Given the description of an element on the screen output the (x, y) to click on. 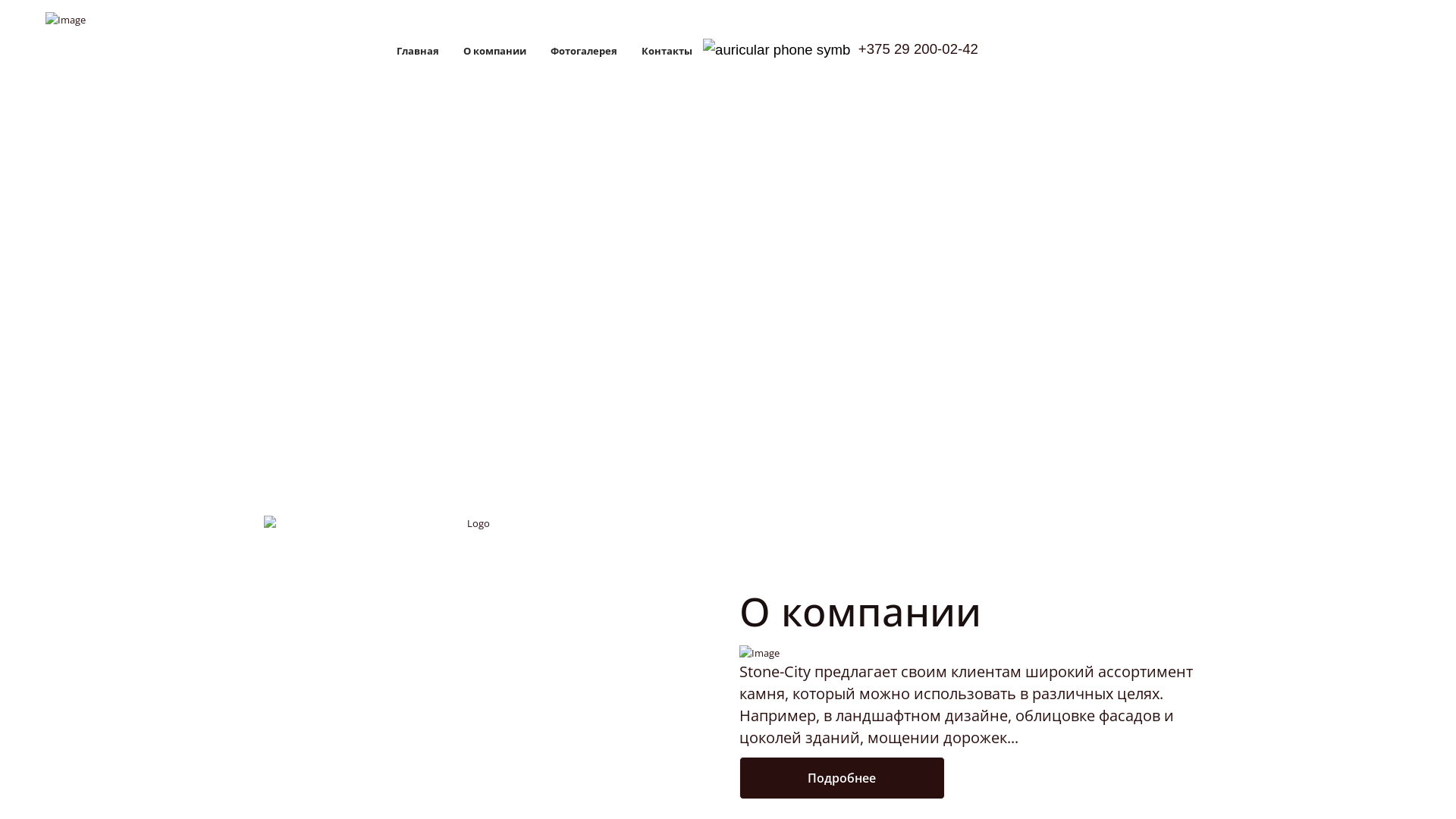
  +375 29 200-02-42 Element type: text (840, 50)
